Given the description of an element on the screen output the (x, y) to click on. 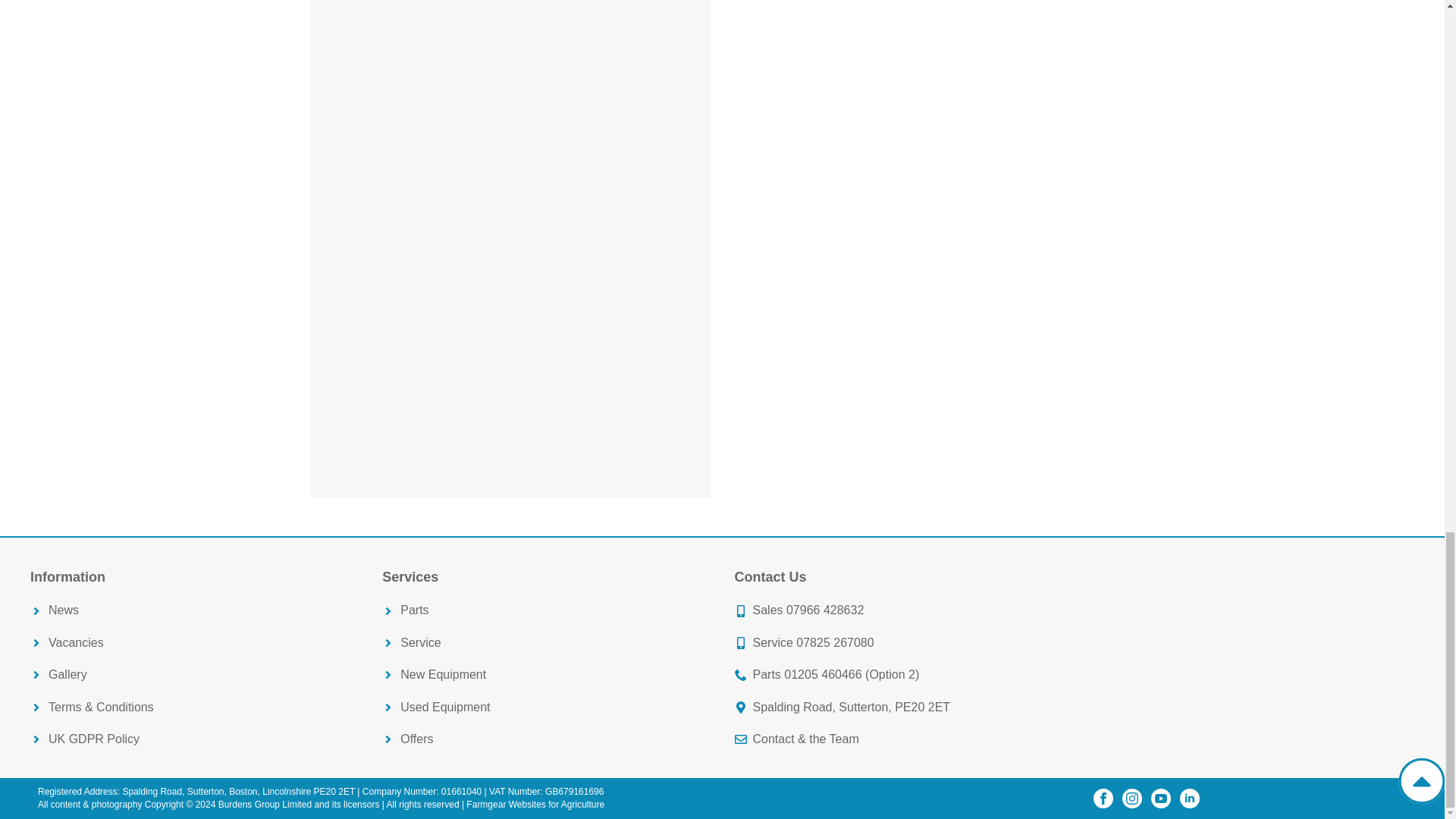
Map (1249, 657)
